Given the description of an element on the screen output the (x, y) to click on. 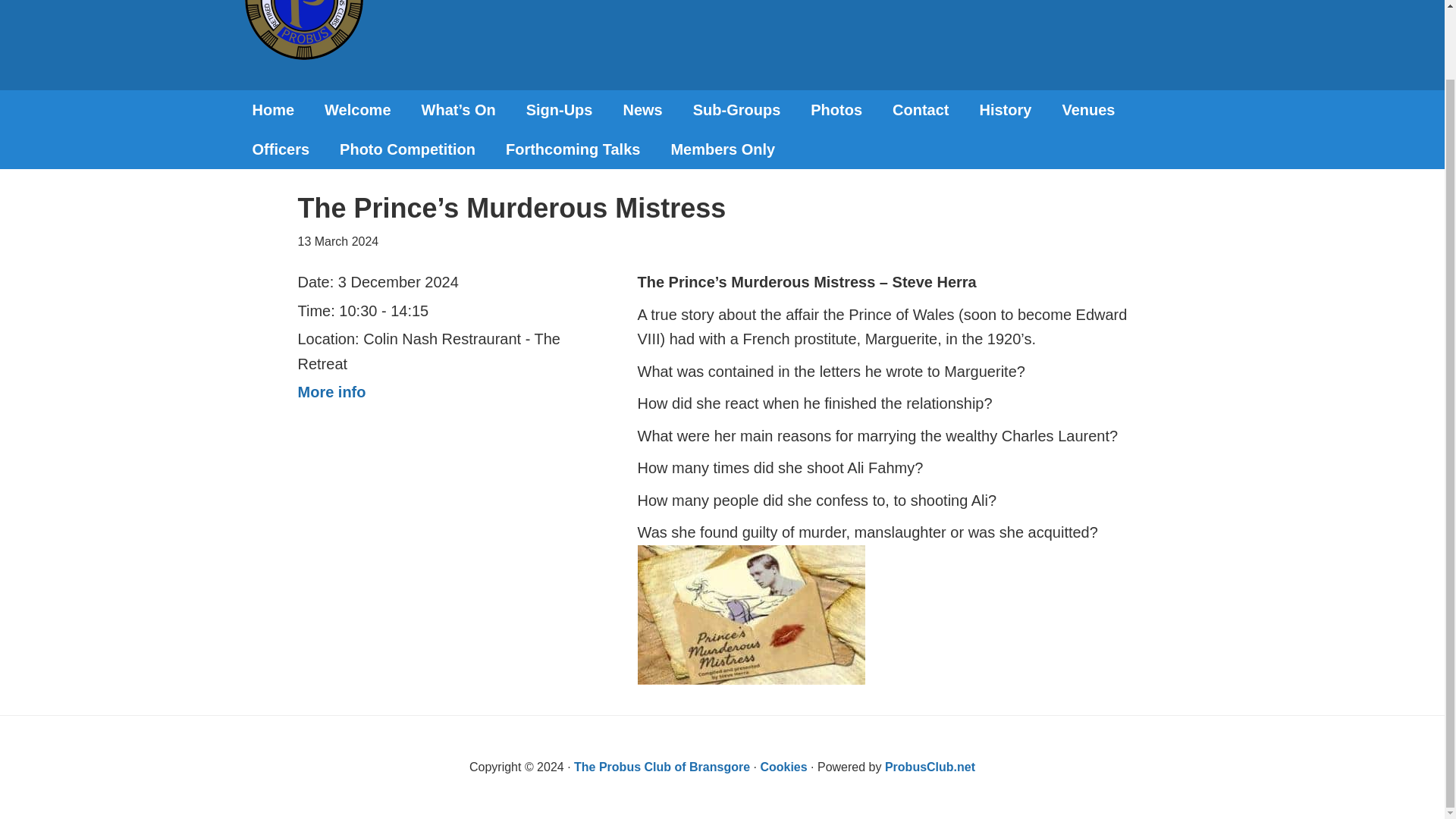
History (1004, 109)
ProbusClub.net (930, 766)
Members Only (722, 148)
More info (331, 392)
Forthcoming Talks (572, 148)
Sub-Groups (737, 109)
The Probus Club of Bransgore (661, 766)
Contact (920, 109)
News (642, 109)
Cookies (783, 766)
